Given the description of an element on the screen output the (x, y) to click on. 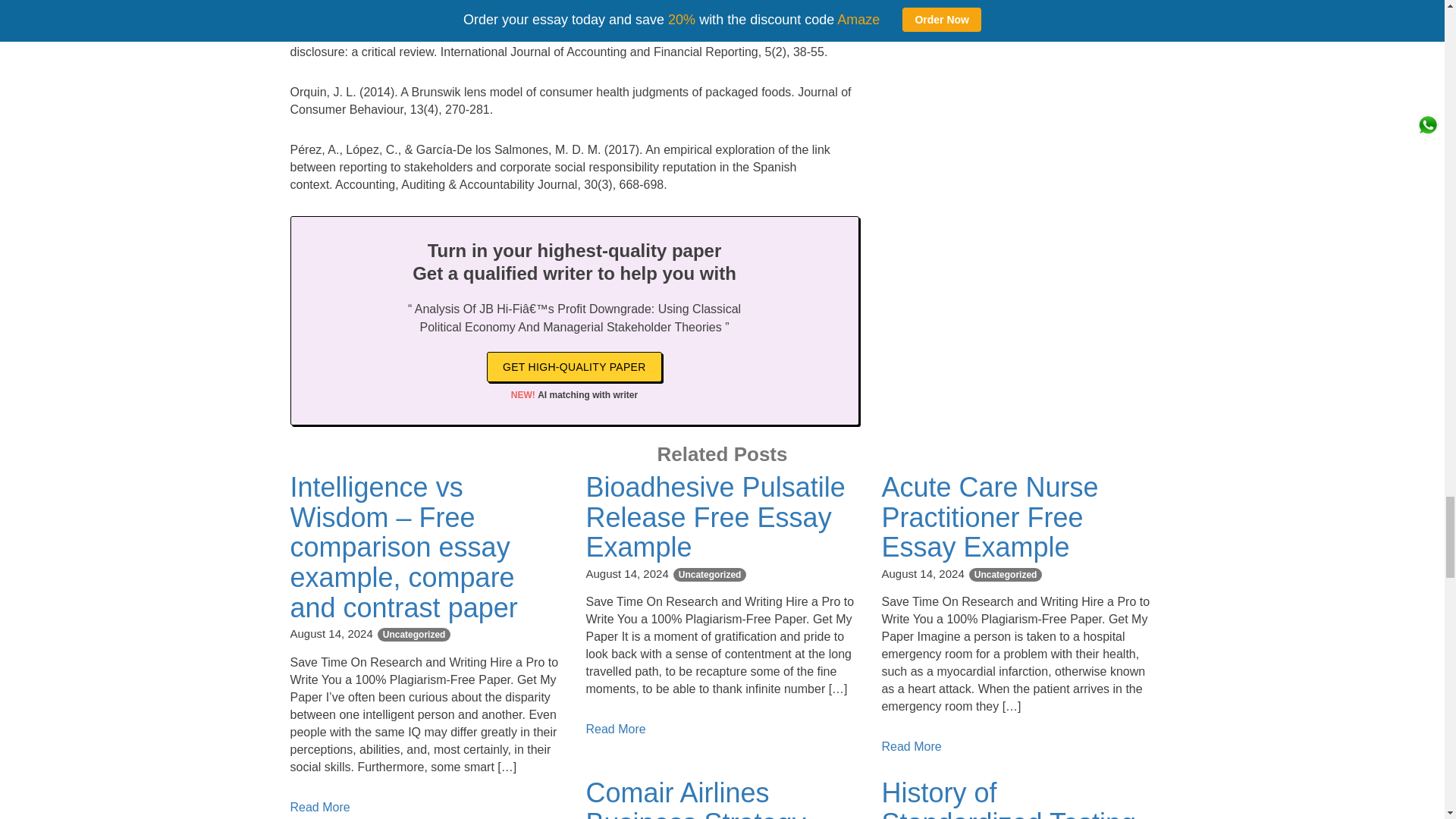
Uncategorized (414, 634)
Read More (910, 746)
Read More (615, 728)
Uncategorized (709, 574)
Uncategorized (1005, 574)
Acute Care Nurse Practitioner Free Essay Example (988, 516)
History of Standardized Testing Free Essay Example (1007, 798)
Bioadhesive Pulsatile Release Free Essay Example (714, 516)
Comair Airlines Business Strategy Free Essay Example (711, 798)
GET HIGH-QUALITY PAPER (574, 367)
